Given the description of an element on the screen output the (x, y) to click on. 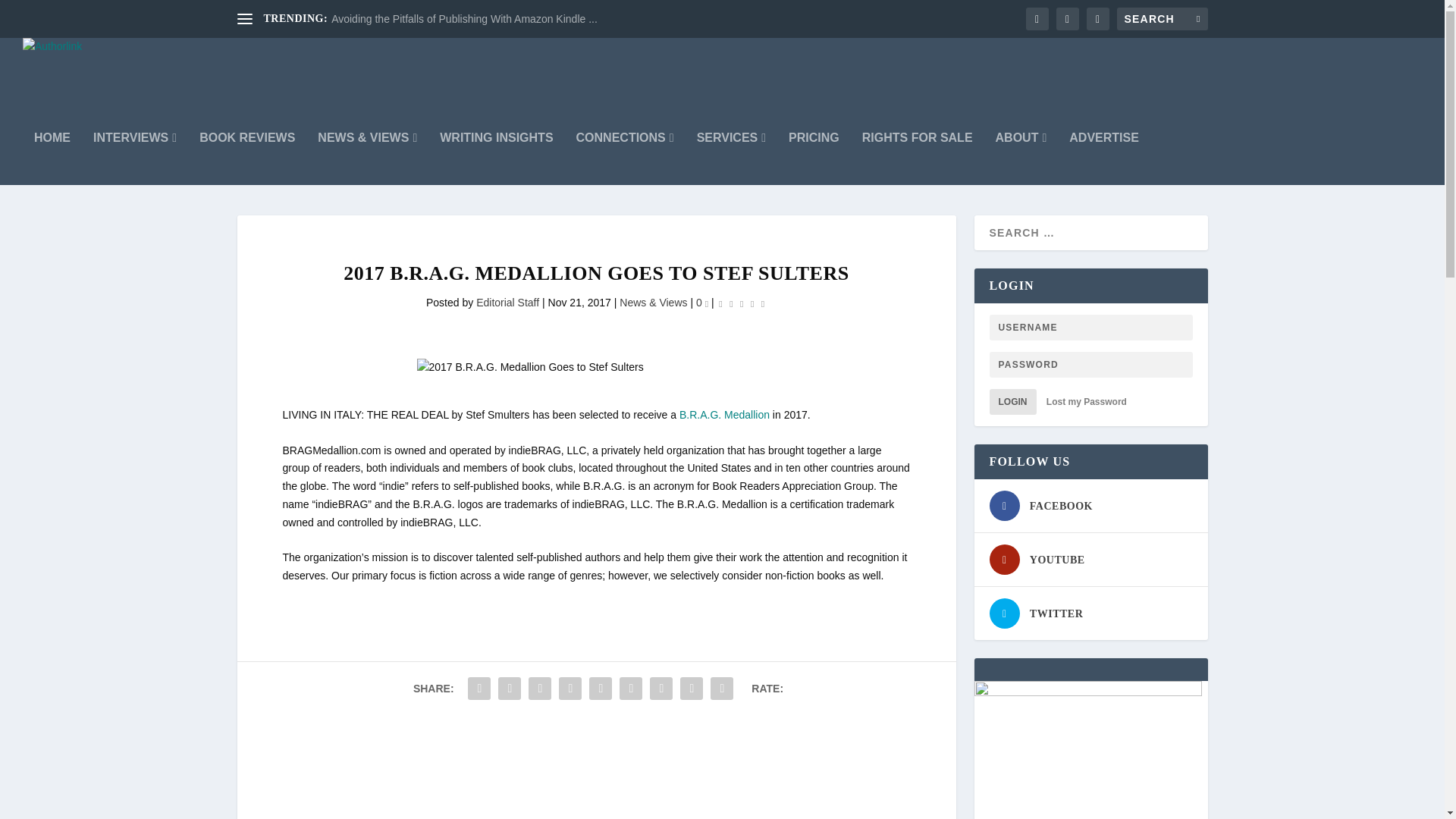
Avoiding the Pitfalls of Publishing With Amazon Kindle ... (463, 19)
INTERVIEWS (134, 158)
RIGHTS FOR SALE (916, 158)
Search for: (1161, 18)
ABOUT (1020, 158)
WRITING INSIGHTS (496, 158)
Rating: 0.00 (741, 303)
Posts by Editorial Staff (507, 302)
